Given the description of an element on the screen output the (x, y) to click on. 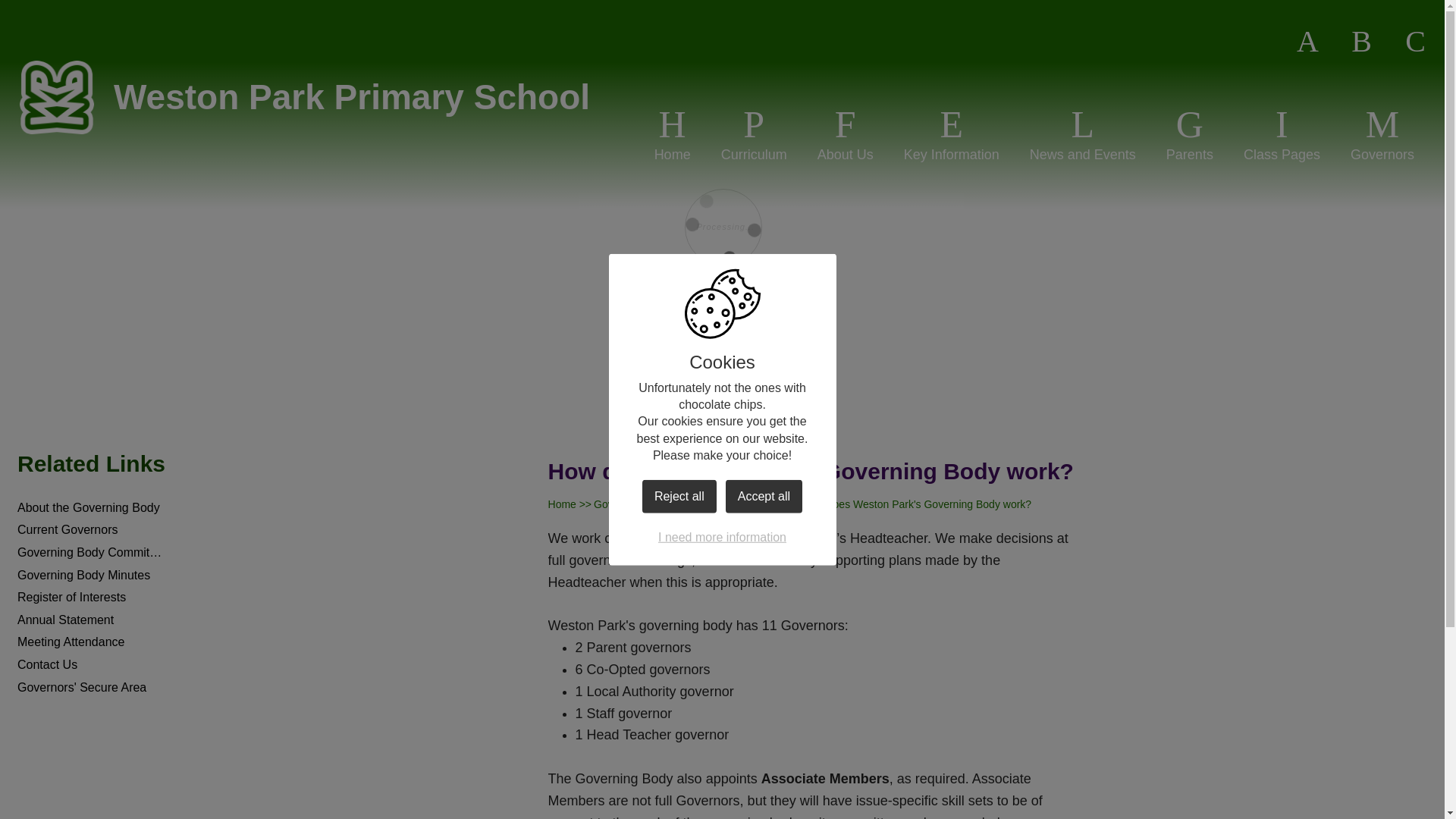
Home Page (56, 97)
Key Information (951, 132)
Log in (1414, 41)
Curriculum (753, 132)
Home Page (56, 97)
